Given the description of an element on the screen output the (x, y) to click on. 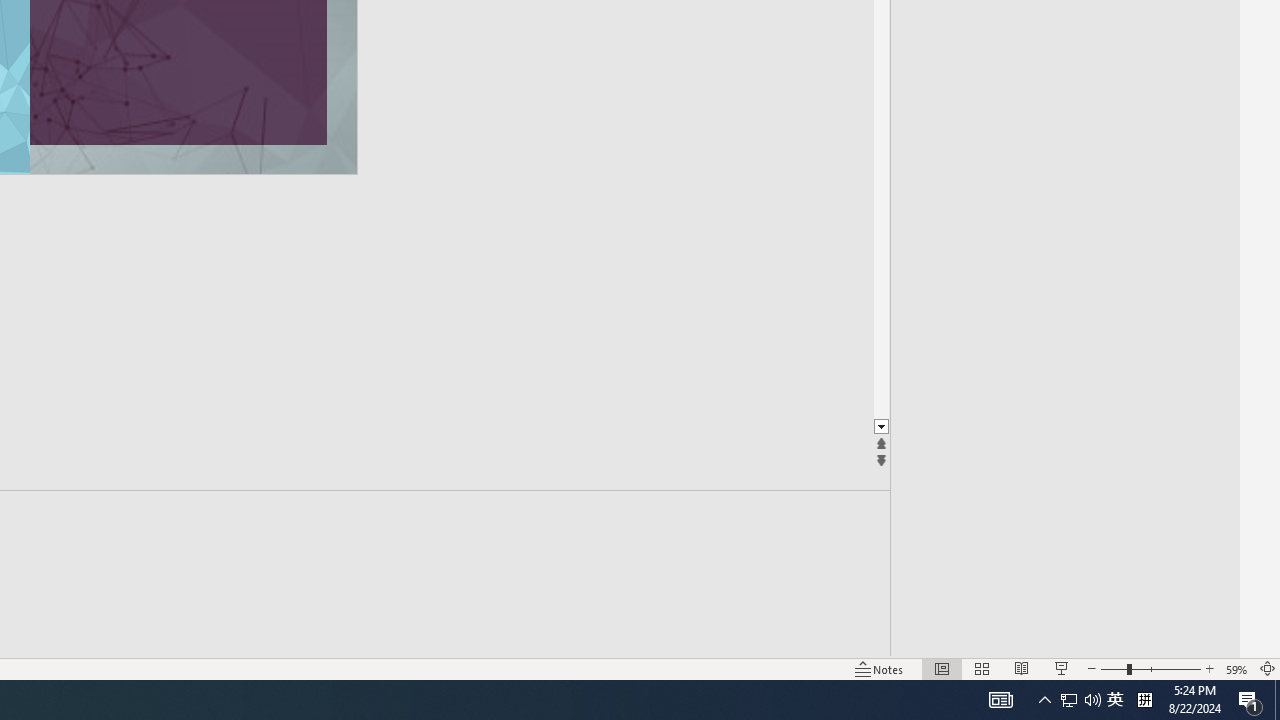
Zoom 59% (1236, 668)
